Given the description of an element on the screen output the (x, y) to click on. 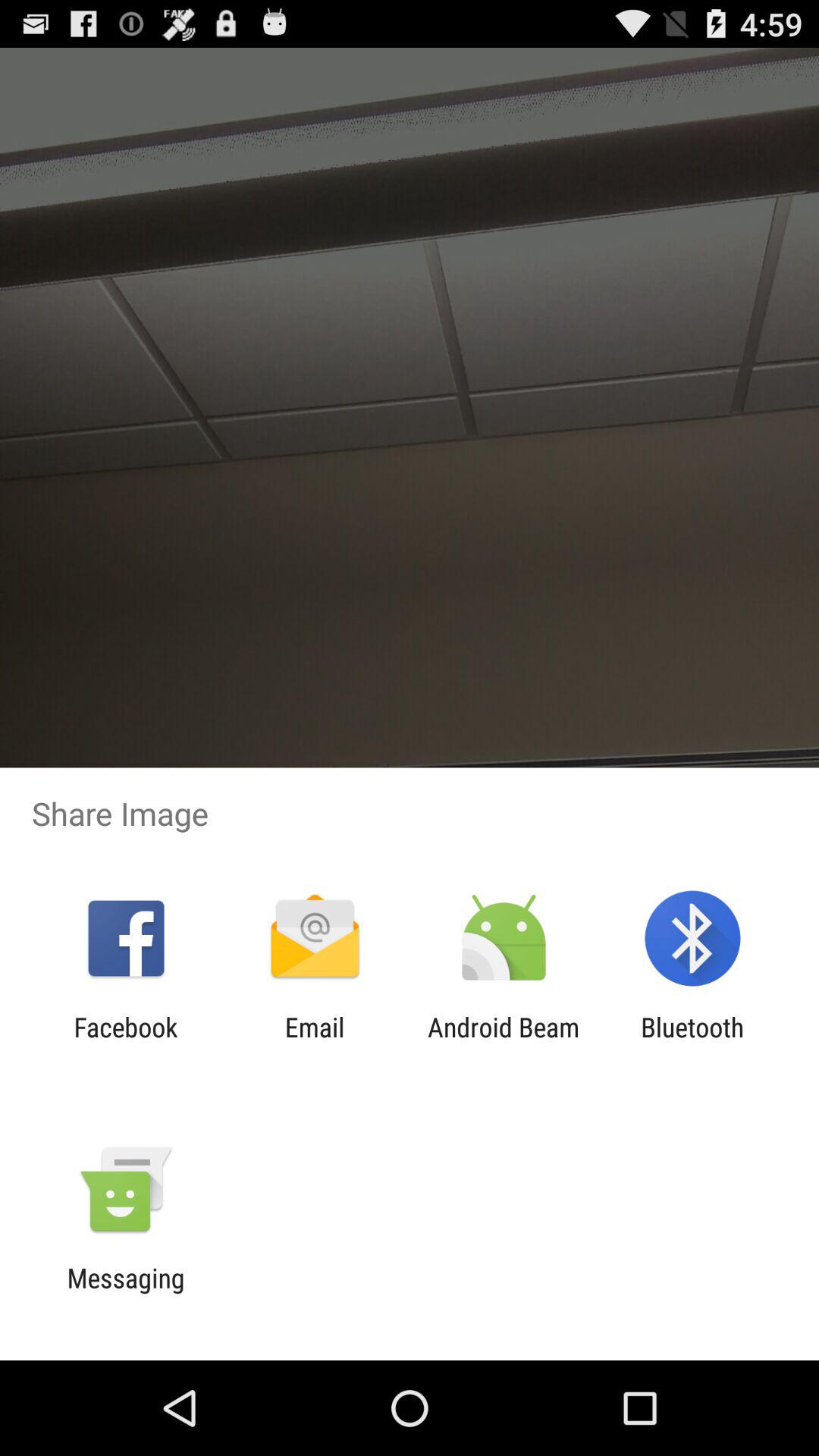
scroll until android beam item (503, 1042)
